Given the description of an element on the screen output the (x, y) to click on. 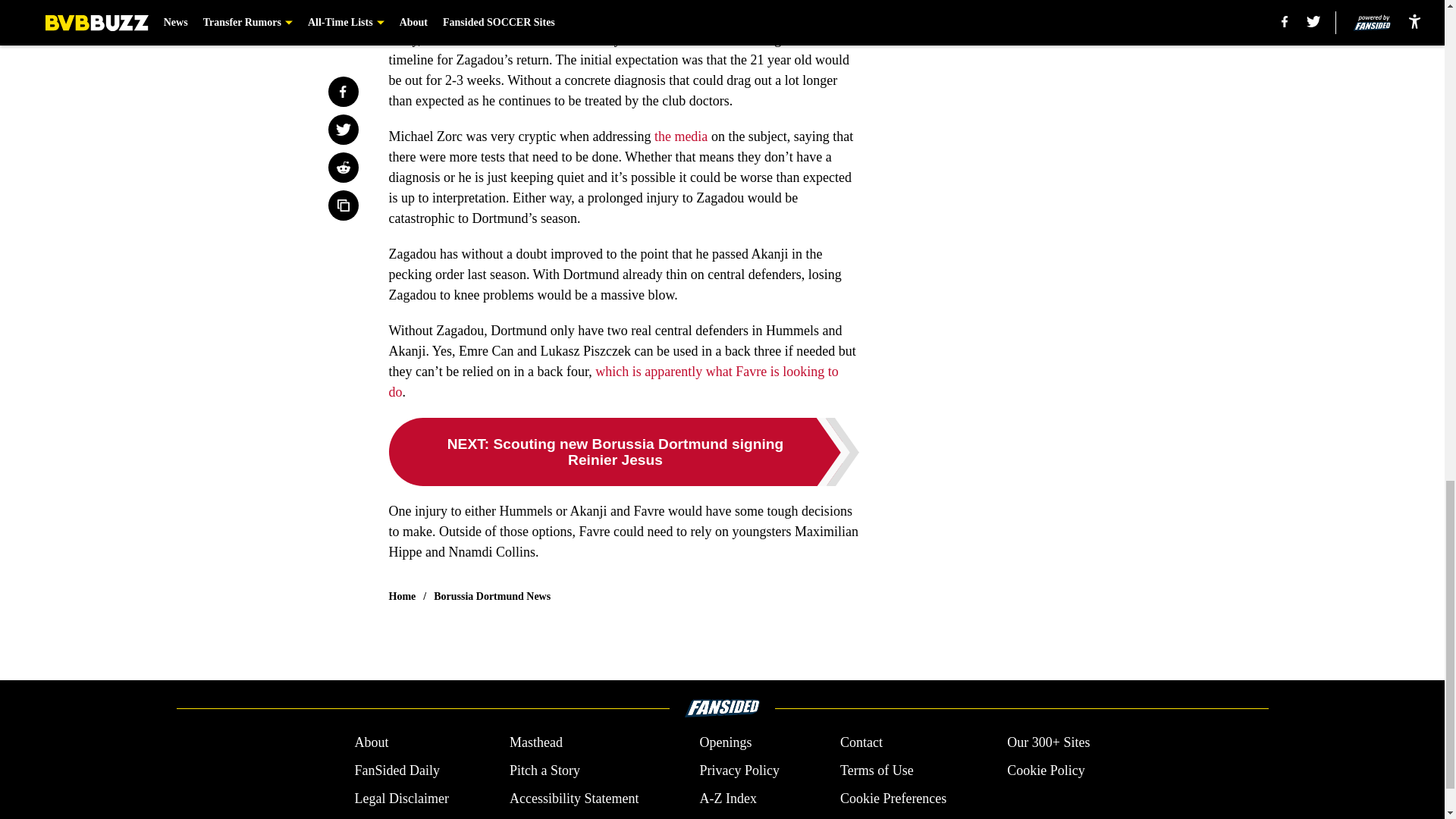
Cookie Policy (1045, 770)
Privacy Policy (738, 770)
Openings (724, 742)
NEXT: Scouting new Borussia Dortmund signing Reinier Jesus (623, 451)
About (370, 742)
Accessibility Statement (574, 798)
Contact (861, 742)
Pitch a Story (544, 770)
which is apparently what Favre is looking to do (613, 381)
Borussia Dortmund News (491, 596)
